Given the description of an element on the screen output the (x, y) to click on. 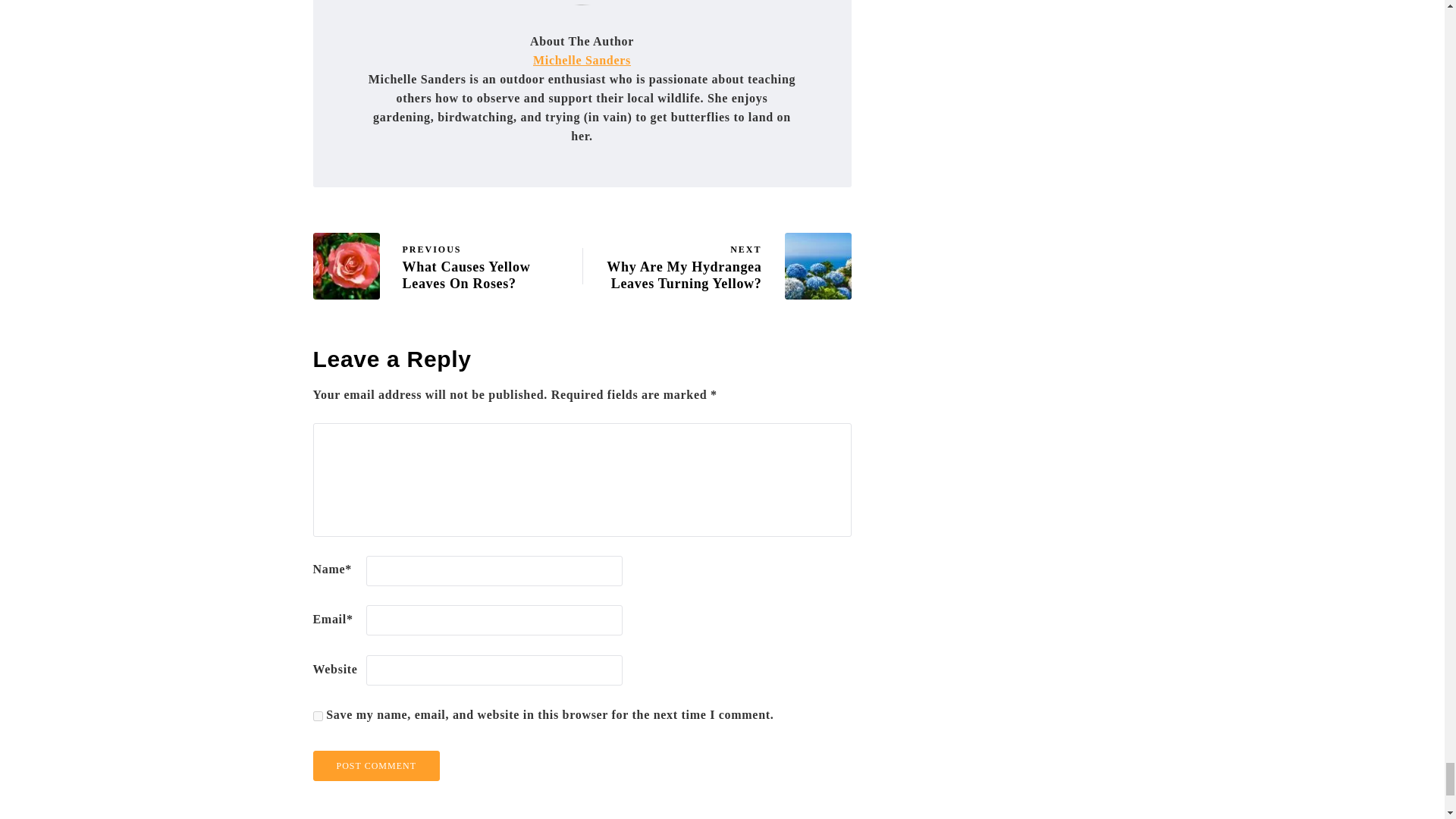
Posts by Michelle Sanders (581, 60)
yes (317, 716)
Post comment (376, 766)
